Given the description of an element on the screen output the (x, y) to click on. 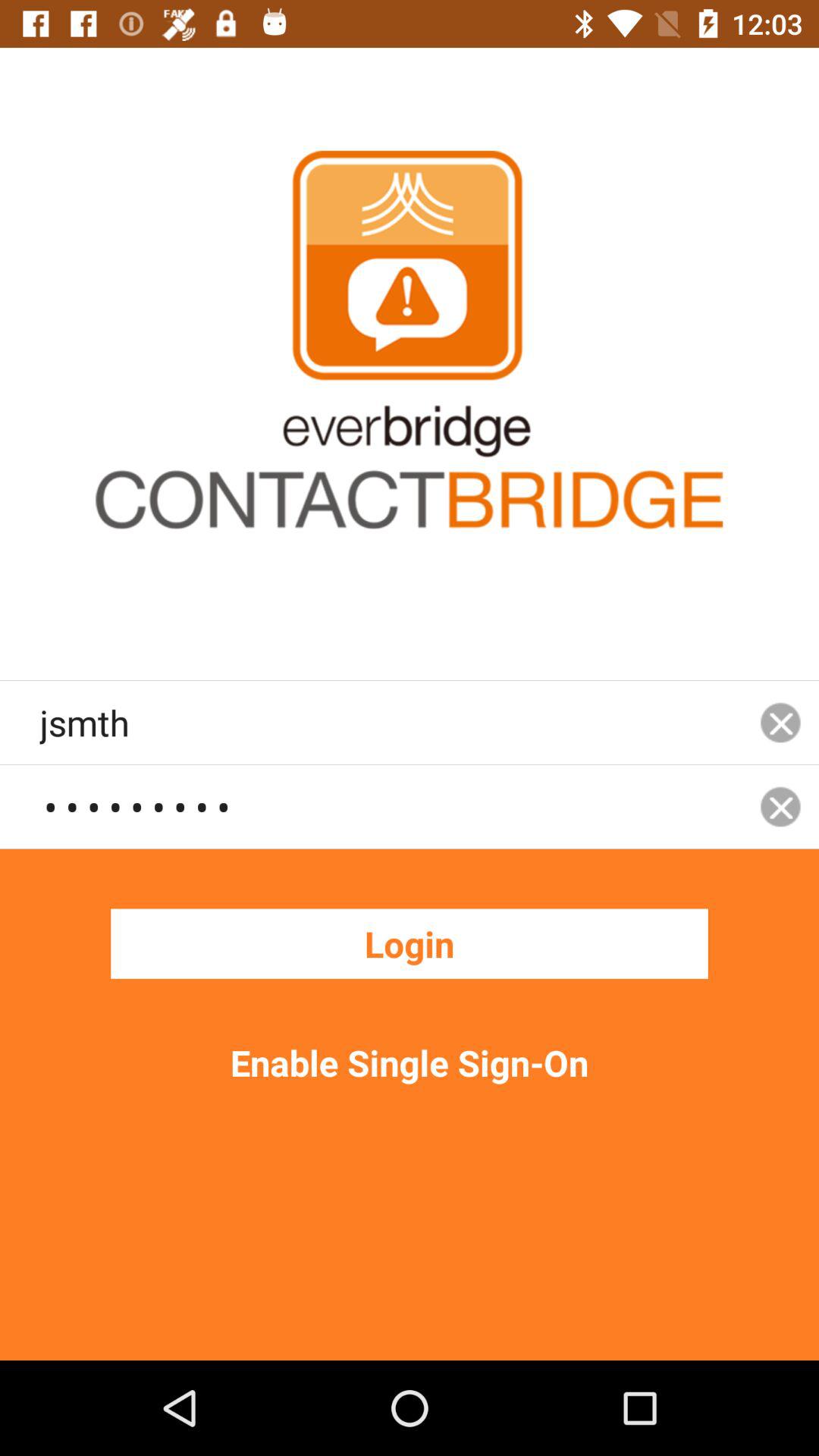
turn on icon next to the jsmth item (780, 722)
